Given the description of an element on the screen output the (x, y) to click on. 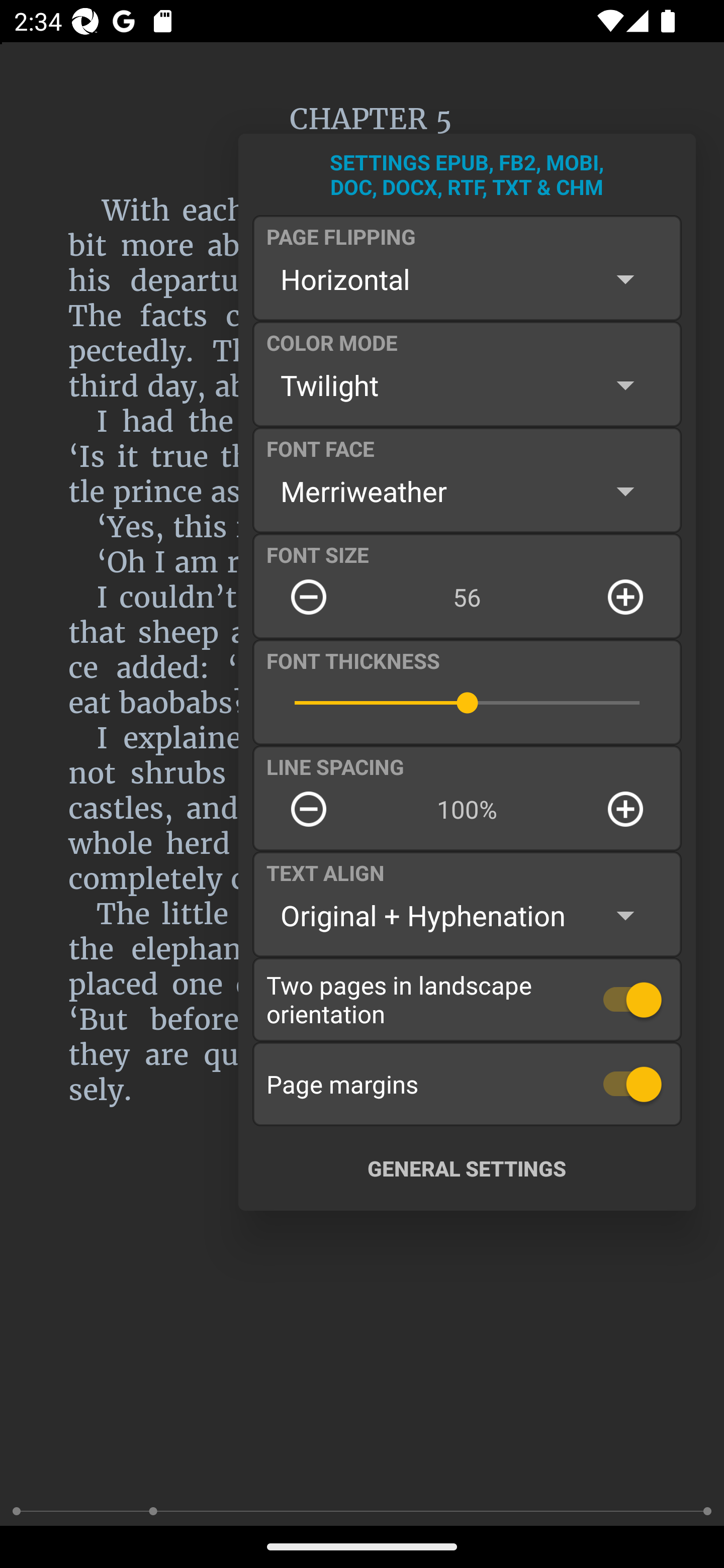
Horizontal (466, 278)
Twilight (466, 384)
Merriweather (466, 490)
Original + Hyphenation (466, 915)
Two pages in landscape orientation (467, 999)
Page margins (467, 1083)
GENERAL SETTINGS (466, 1167)
